Given the description of an element on the screen output the (x, y) to click on. 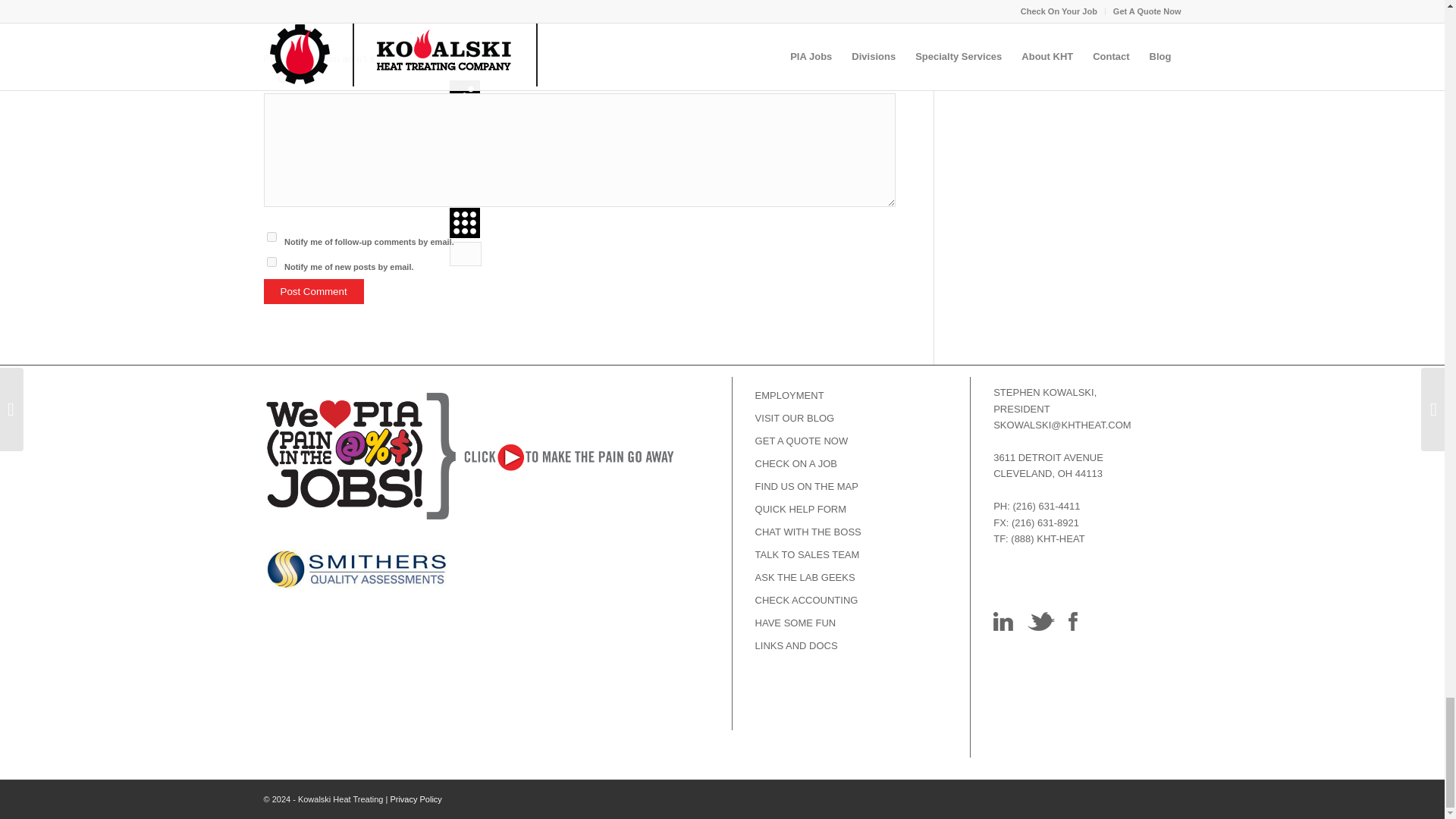
pita-footer (470, 464)
subscribe (271, 236)
subscribe (271, 261)
smithers-footer (470, 571)
Post Comment (313, 291)
